Given the description of an element on the screen output the (x, y) to click on. 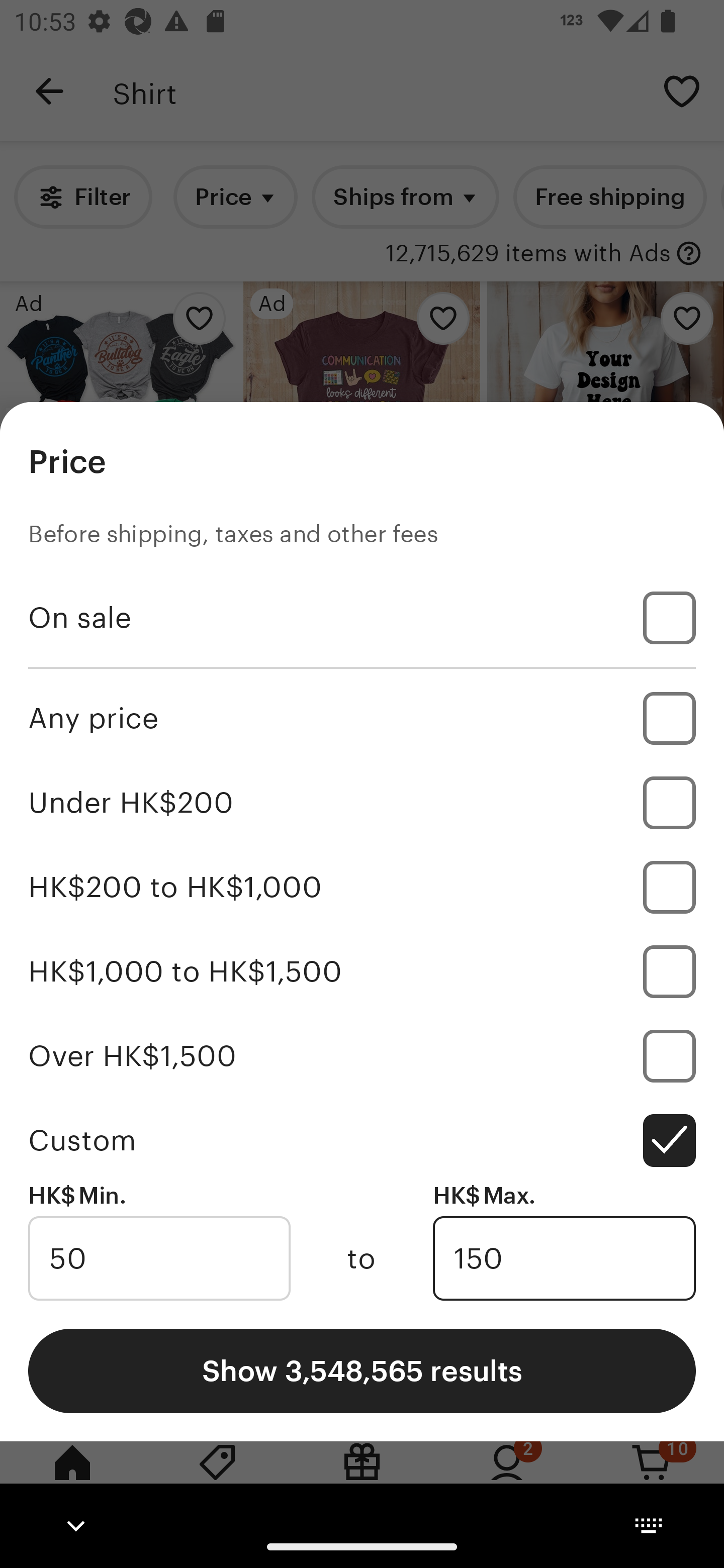
On sale (362, 617)
Any price (362, 717)
Under HK$200 (362, 802)
HK$200 to HK$1,000 (362, 887)
HK$1,000 to HK$1,500 (362, 970)
Over HK$1,500 (362, 1054)
Custom (362, 1139)
50 (159, 1257)
150 (563, 1257)
Show 3,548,565 results (361, 1370)
